Given the description of an element on the screen output the (x, y) to click on. 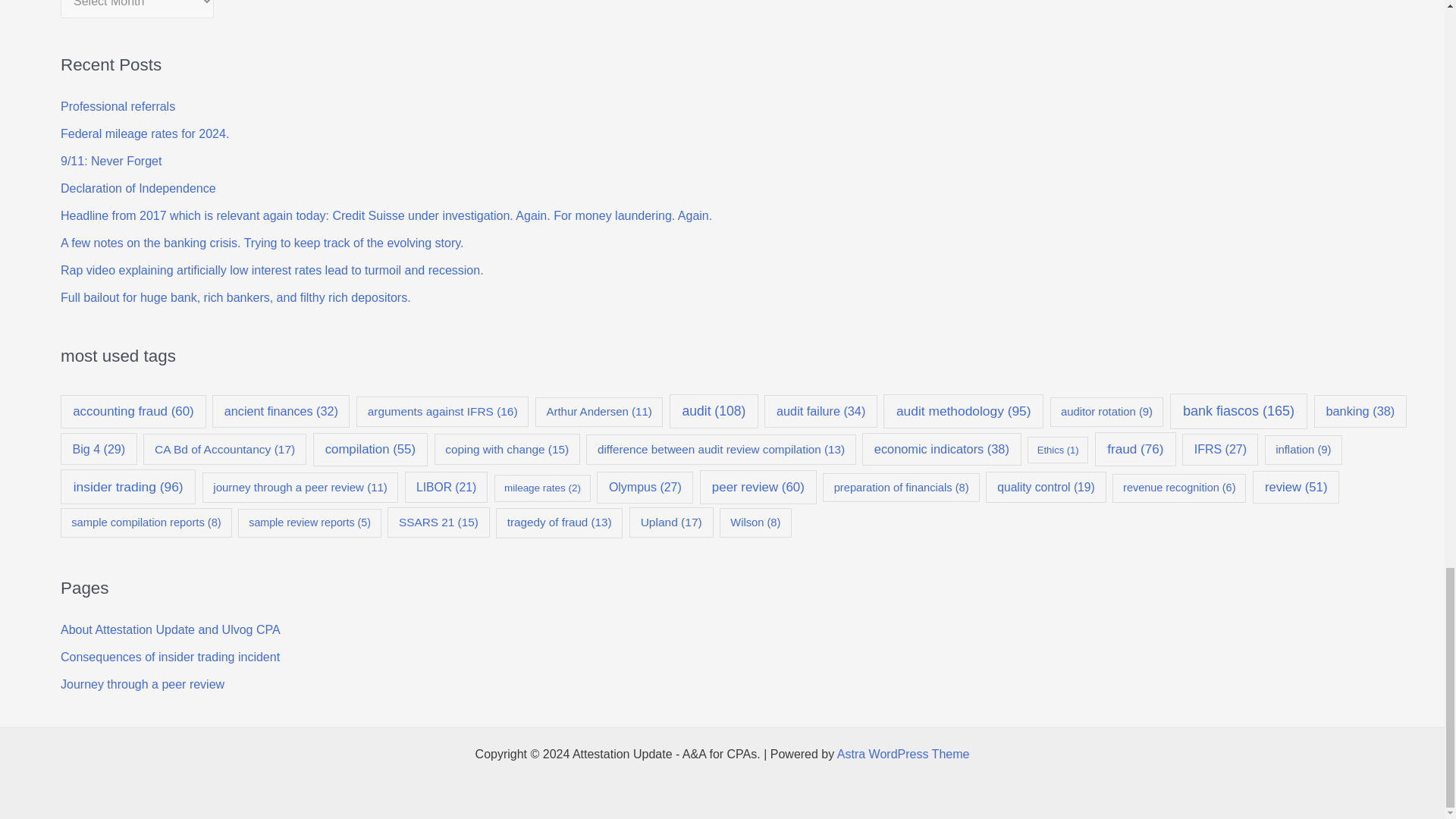
Declaration of Independence (138, 187)
Federal mileage rates for 2024. (144, 133)
Professional referrals (117, 106)
